Given the description of an element on the screen output the (x, y) to click on. 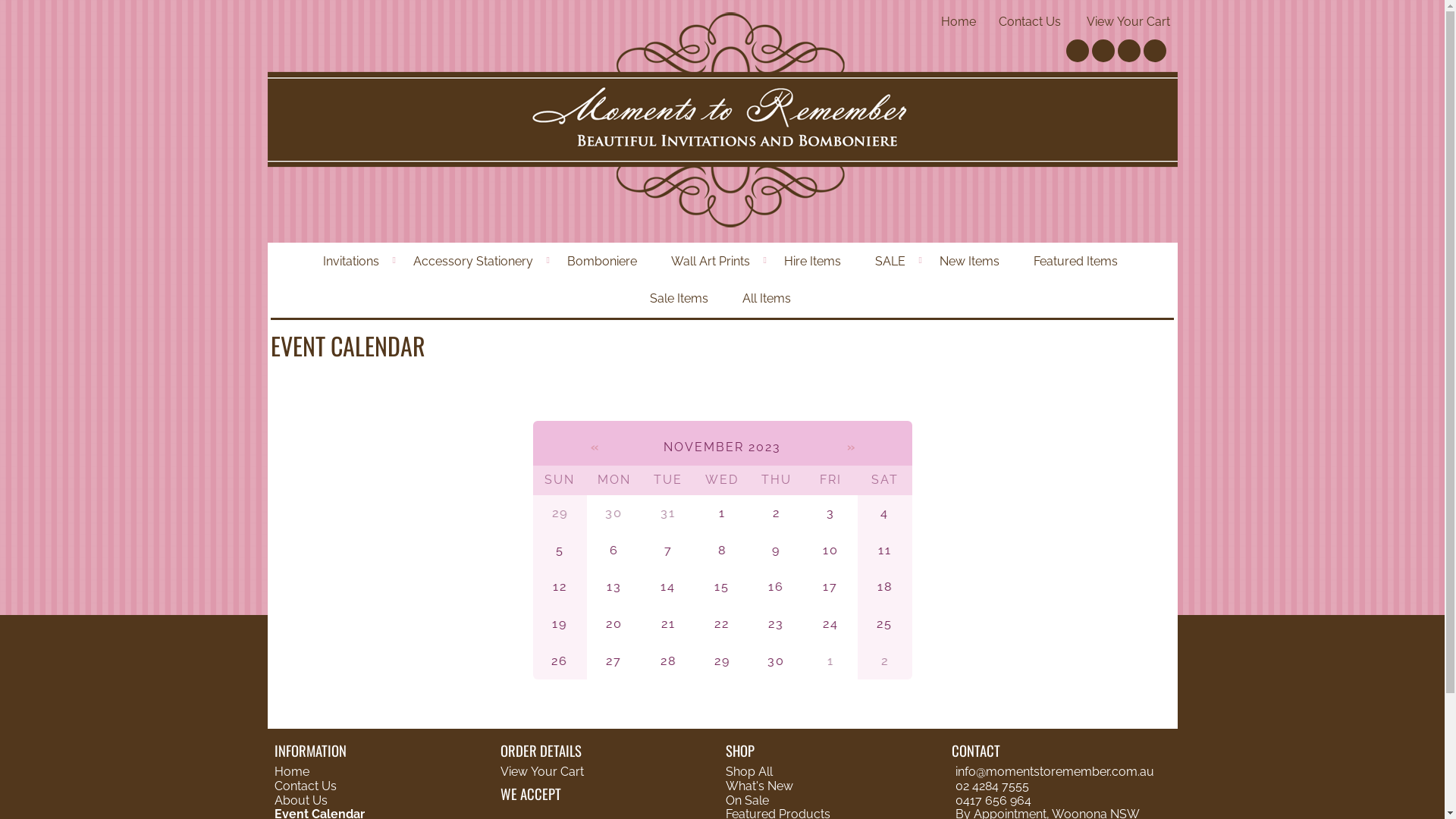
SALE Element type: text (891, 261)
Home Element type: text (958, 21)
Shop All Element type: text (748, 771)
What's New Element type: text (759, 785)
All Items Element type: text (768, 298)
View Your Cart Element type: text (541, 771)
Featured Items Element type: text (1077, 261)
Sale Items Element type: text (680, 298)
Contact Us Element type: text (1029, 21)
Accessory Stationery Element type: text (475, 261)
Contact Us Element type: text (305, 785)
Home Element type: text (291, 771)
info@momentstoremember.com.au Element type: text (1054, 771)
Bomboniere Element type: text (603, 261)
Invitations Element type: text (352, 261)
New Items Element type: text (971, 261)
02 4284 7555 Element type: text (992, 785)
On Sale Element type: text (746, 800)
Wall Art Prints Element type: text (711, 261)
View Your Cart Element type: text (1128, 21)
Hire Items Element type: text (813, 261)
0417 656 964 Element type: text (993, 800)
About Us  Element type: text (302, 800)
